Given the description of an element on the screen output the (x, y) to click on. 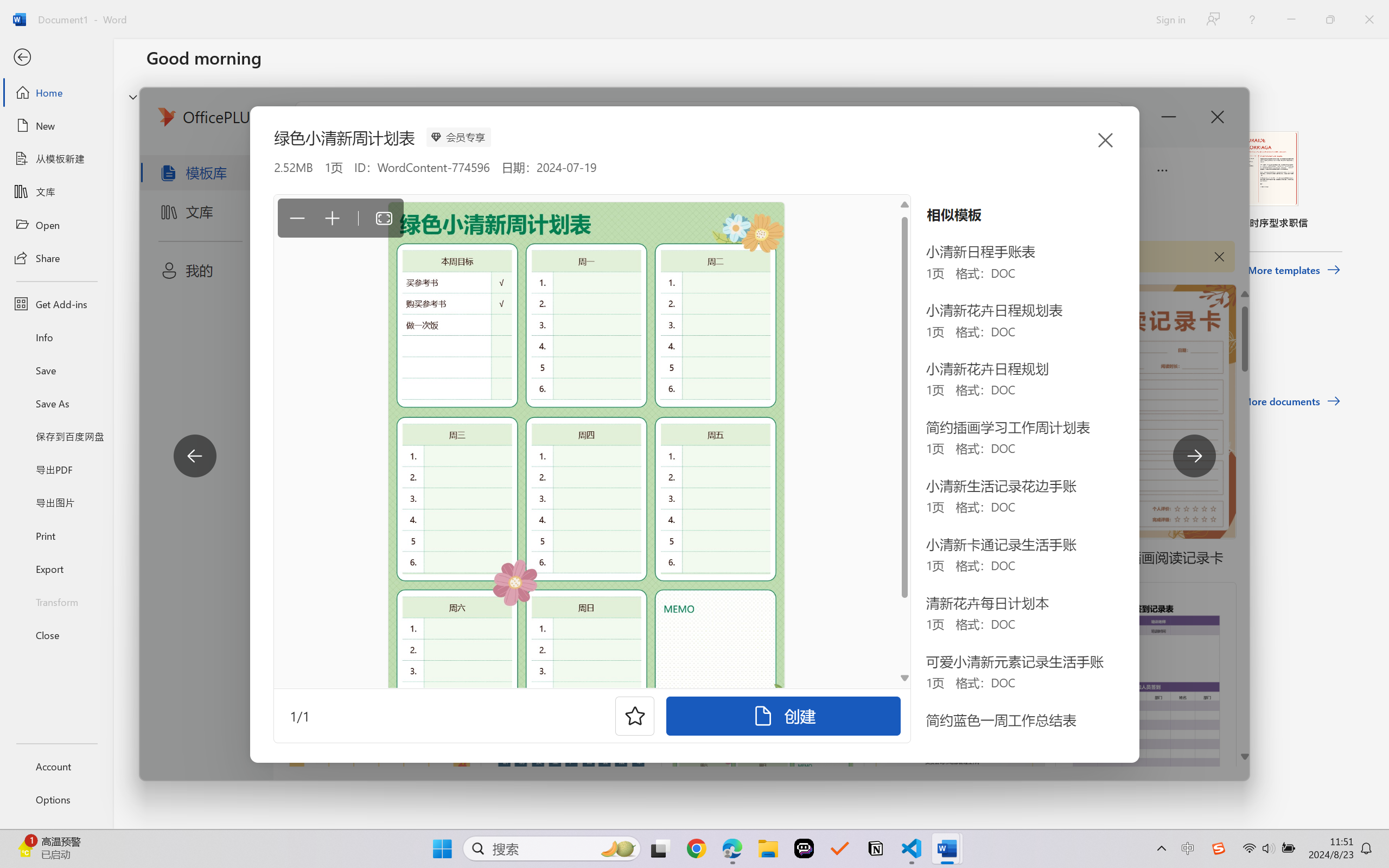
Sign in (1170, 18)
